Given the description of an element on the screen output the (x, y) to click on. 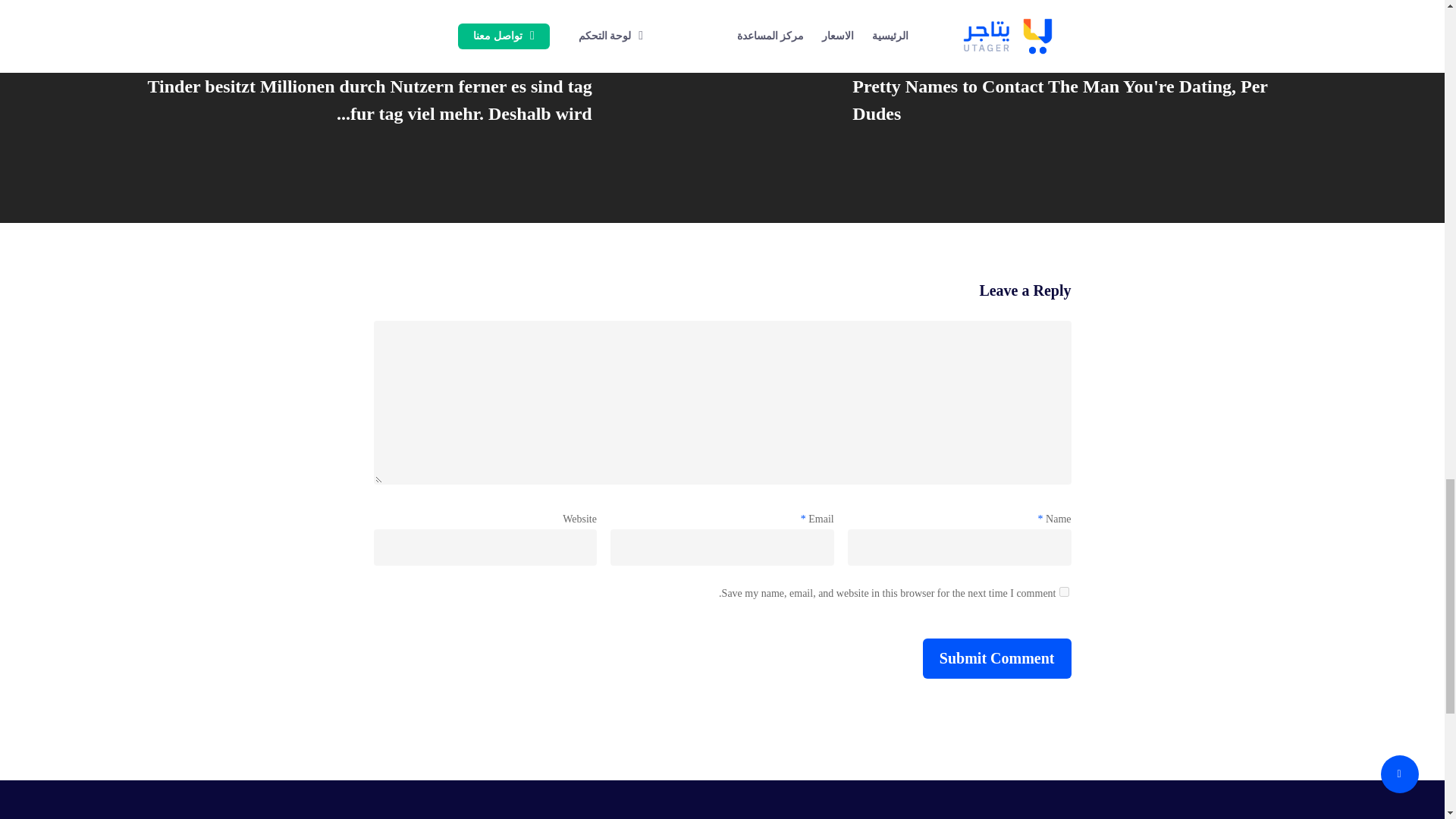
Submit Comment (997, 658)
Submit Comment (997, 658)
yes (1063, 592)
